Given the description of an element on the screen output the (x, y) to click on. 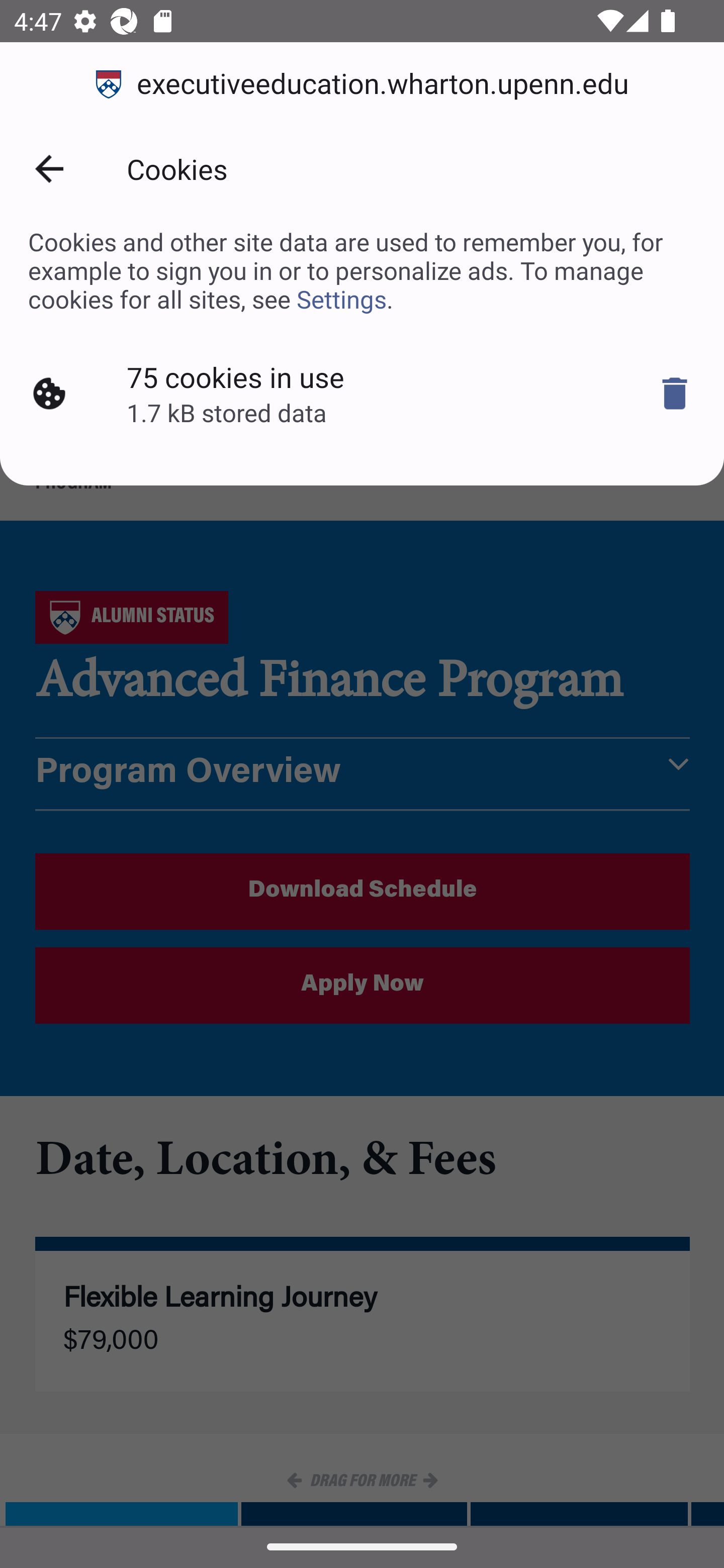
executiveeducation.wharton.upenn.edu (362, 84)
Back (49, 169)
